Given the description of an element on the screen output the (x, y) to click on. 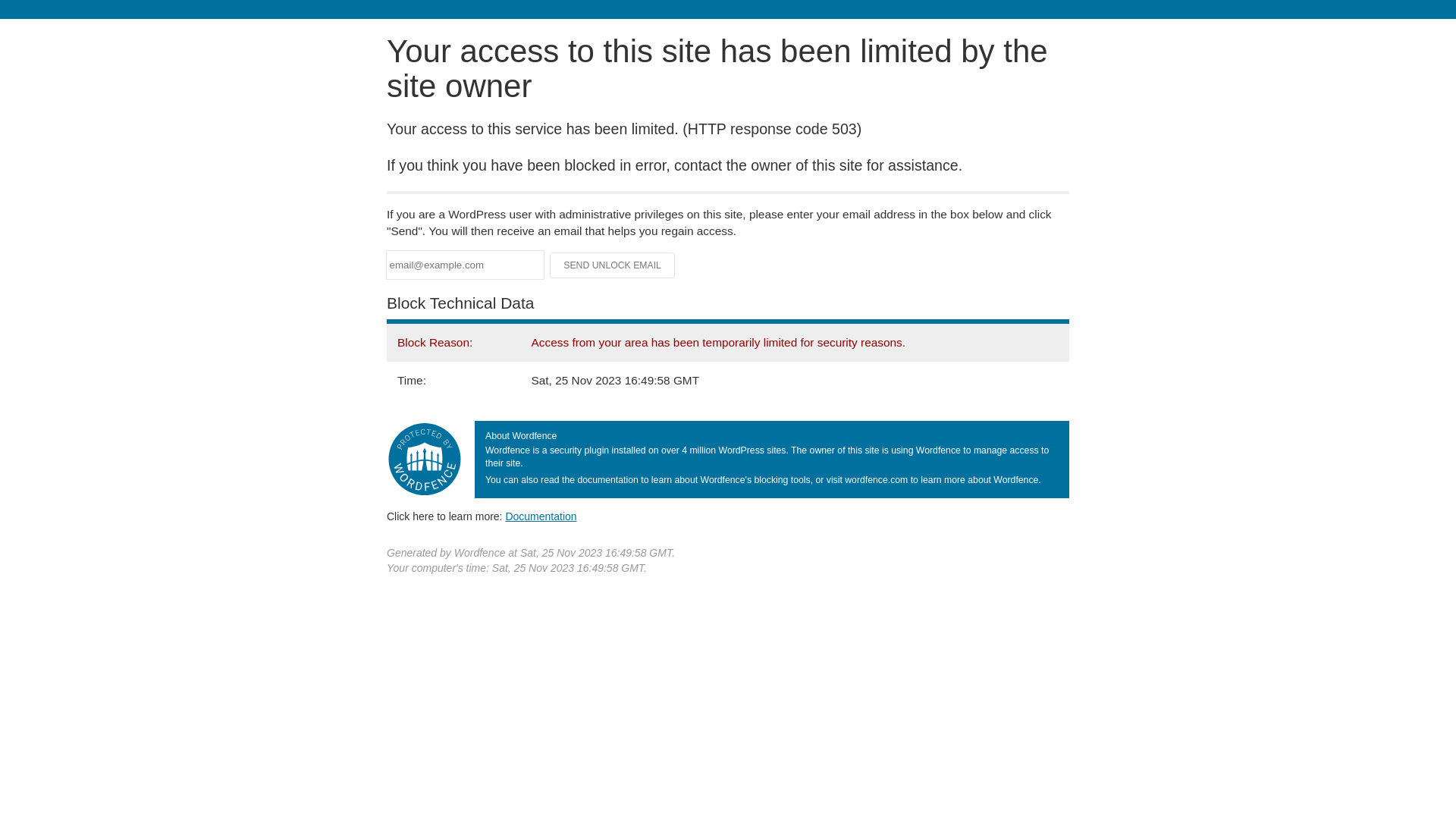
Documentation Element type: text (540, 516)
Send Unlock Email Element type: text (612, 265)
